Given the description of an element on the screen output the (x, y) to click on. 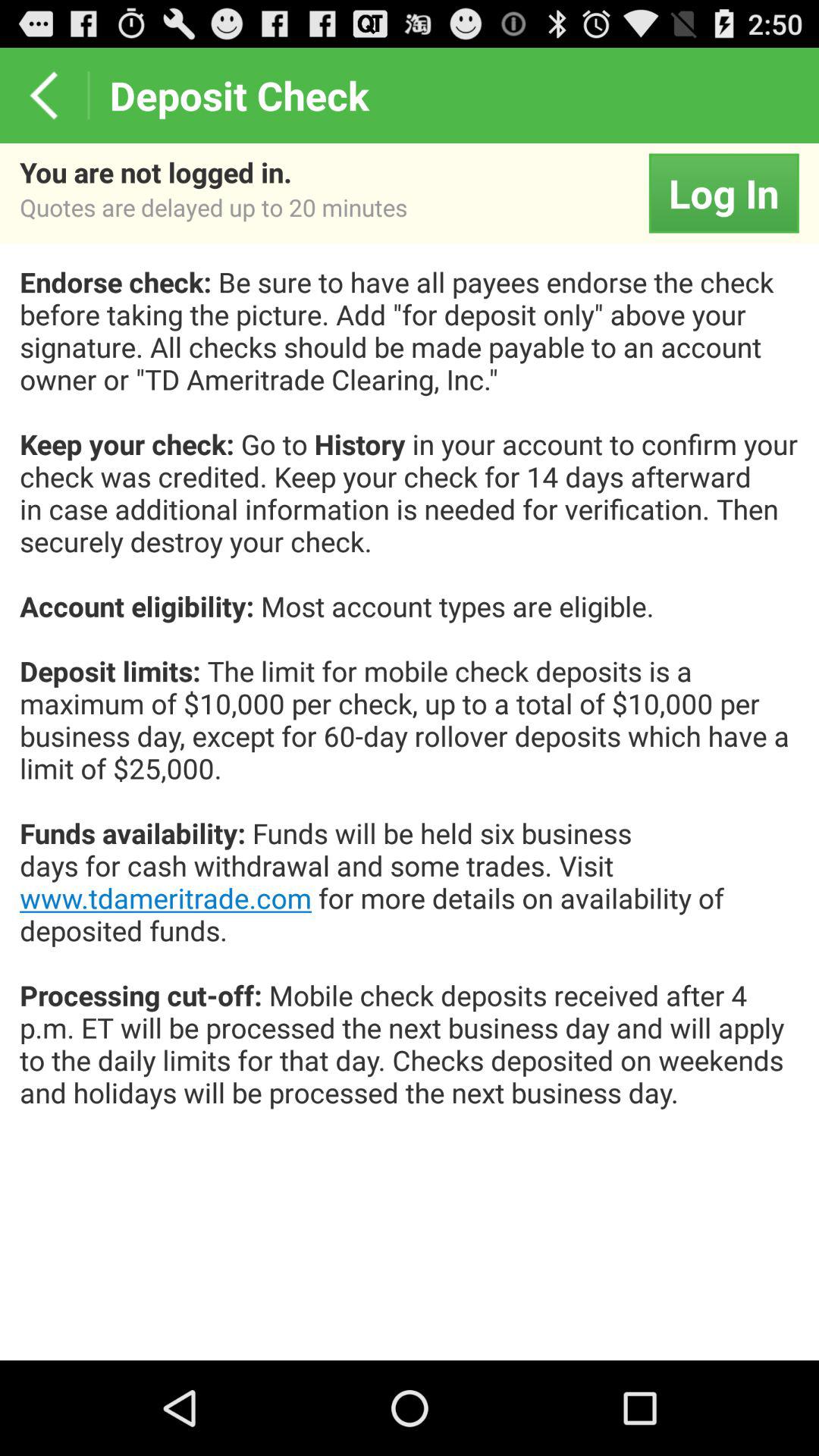
turn on the log in (723, 193)
